Given the description of an element on the screen output the (x, y) to click on. 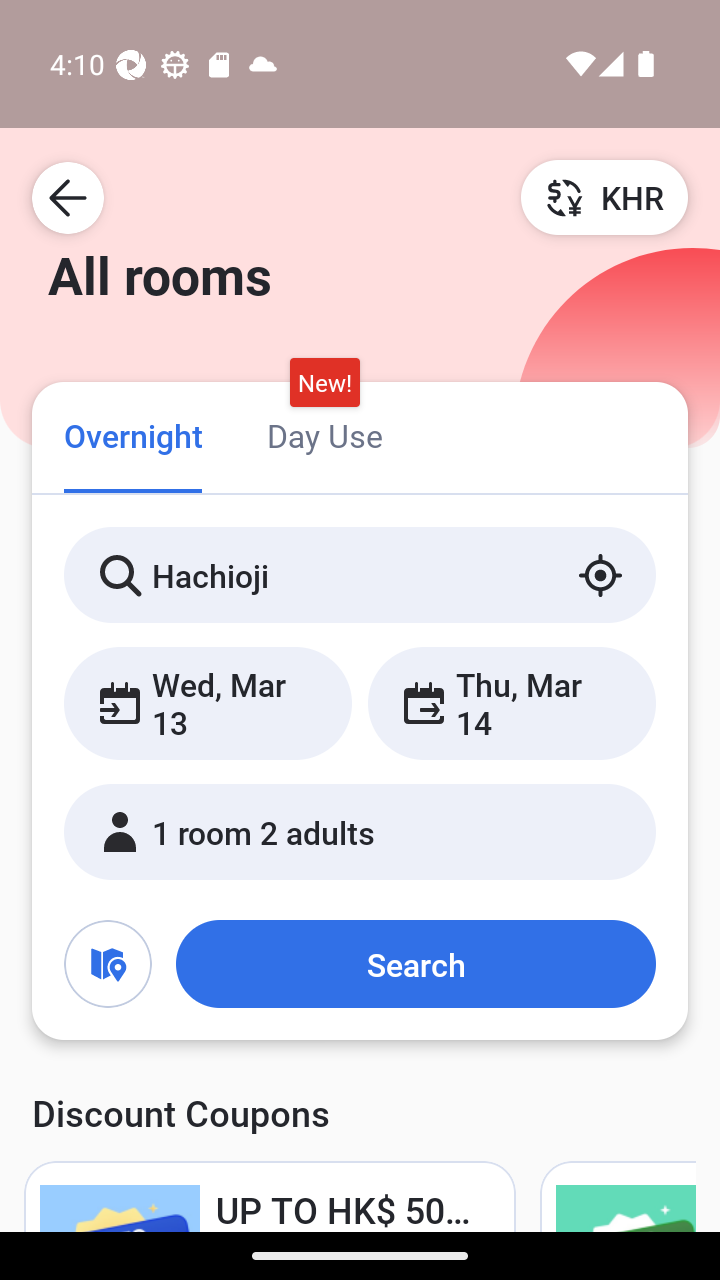
KHR (604, 197)
New! (324, 383)
Day Use (324, 434)
Hachioji (359, 575)
Wed, Mar 13 (208, 703)
Thu, Mar 14 (511, 703)
1 room 2 adults (359, 831)
Search (415, 964)
